Given the description of an element on the screen output the (x, y) to click on. 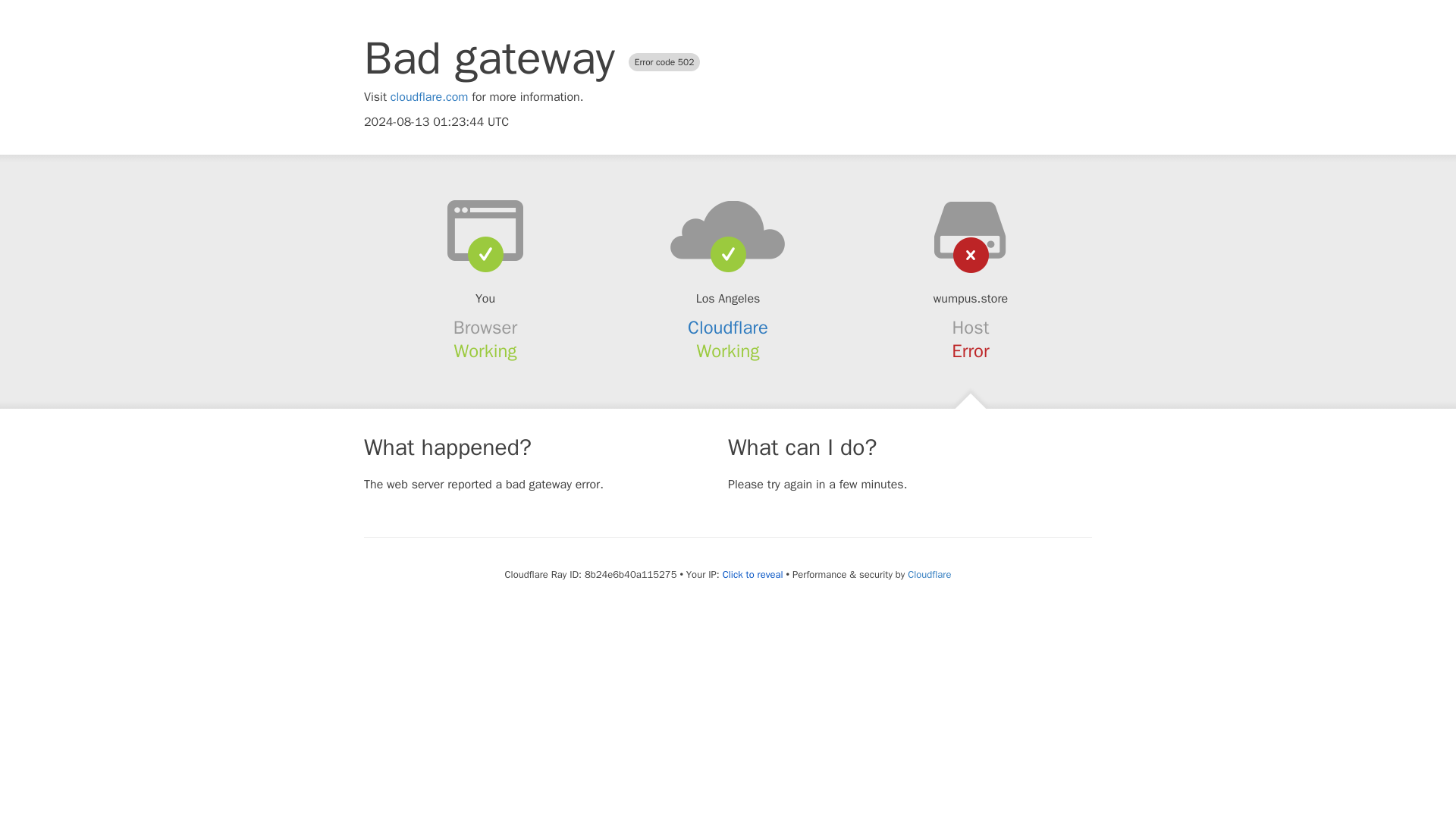
Cloudflare (928, 574)
Cloudflare (727, 327)
cloudflare.com (429, 96)
Click to reveal (752, 574)
